Given the description of an element on the screen output the (x, y) to click on. 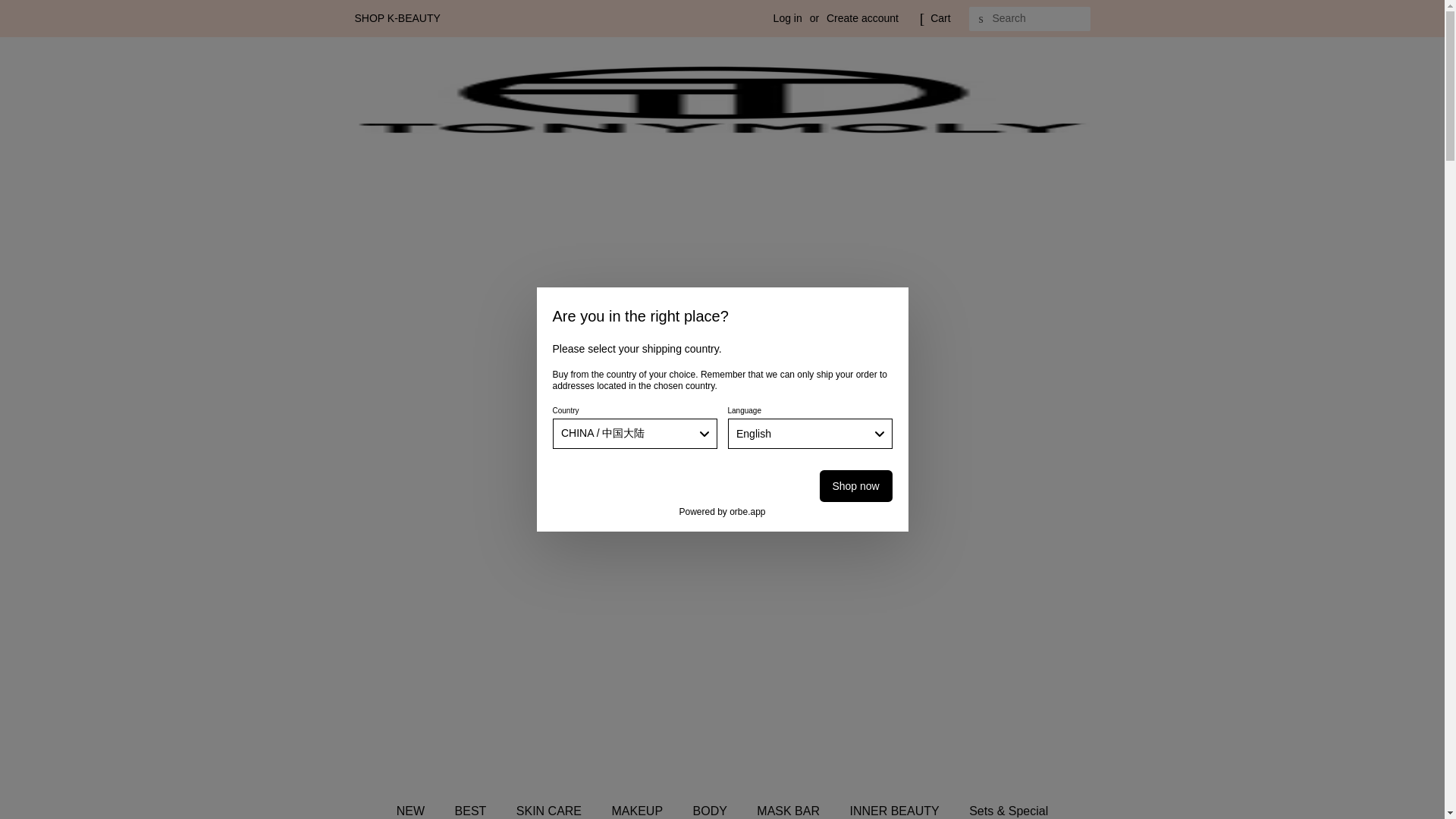
BEST (473, 807)
Cart (940, 18)
SKIN CARE (550, 807)
MAKEUP (638, 807)
Log in (787, 18)
NEW (417, 807)
Search (980, 18)
BODY (711, 807)
Shop now (855, 486)
English (810, 433)
Create account (862, 18)
orbe.app (747, 511)
INNER BEAUTY (895, 807)
MASK BAR (789, 807)
